Given the description of an element on the screen output the (x, y) to click on. 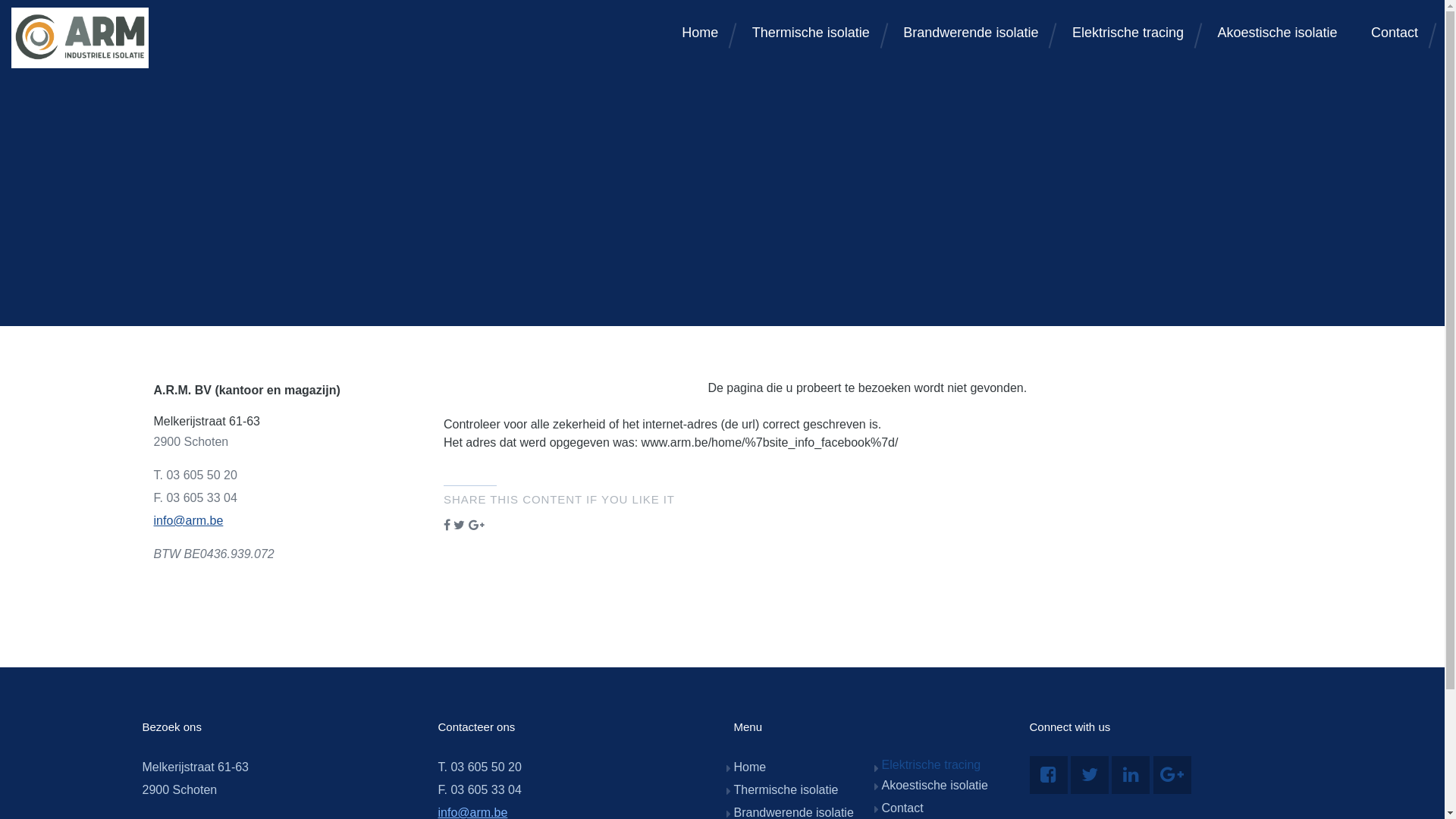
Thermische isolatie Element type: text (810, 32)
Brandwerende isolatie Element type: text (970, 32)
Akoestische isolatie Element type: text (1276, 32)
Akoestische isolatie Element type: text (934, 784)
Elektrische tracing Element type: text (1127, 32)
Contact Element type: text (901, 807)
Home Element type: text (699, 32)
info@arm.be Element type: text (187, 520)
Home Element type: text (750, 766)
Contact Element type: text (1394, 32)
Elektrische tracing Element type: text (930, 764)
Thermische isolatie Element type: text (786, 789)
